Given the description of an element on the screen output the (x, y) to click on. 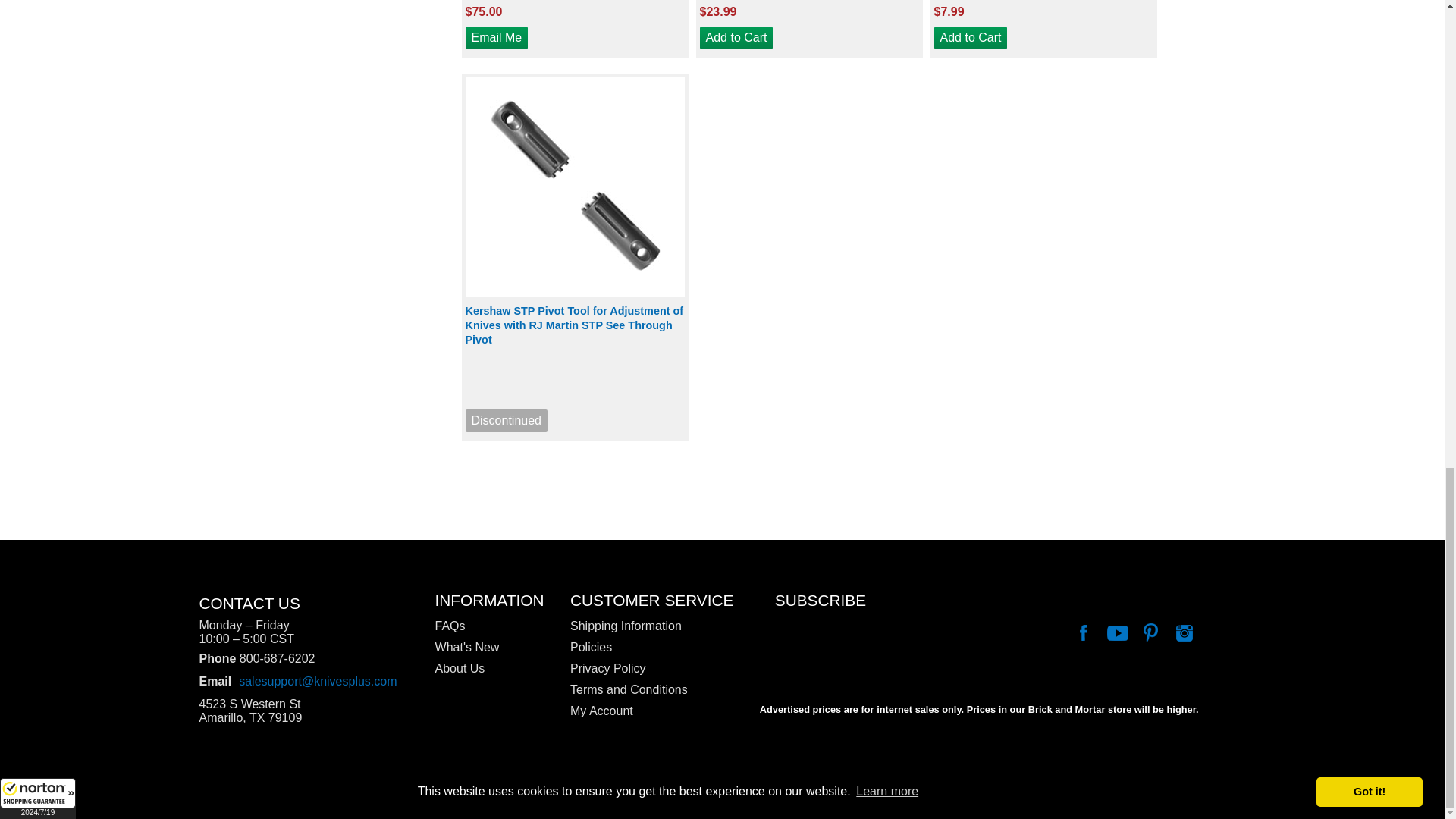
Add to Cart (736, 37)
What's New (489, 647)
Add to Cart (970, 37)
FAQs (489, 626)
Email Me (496, 37)
Discontinued (506, 420)
